Given the description of an element on the screen output the (x, y) to click on. 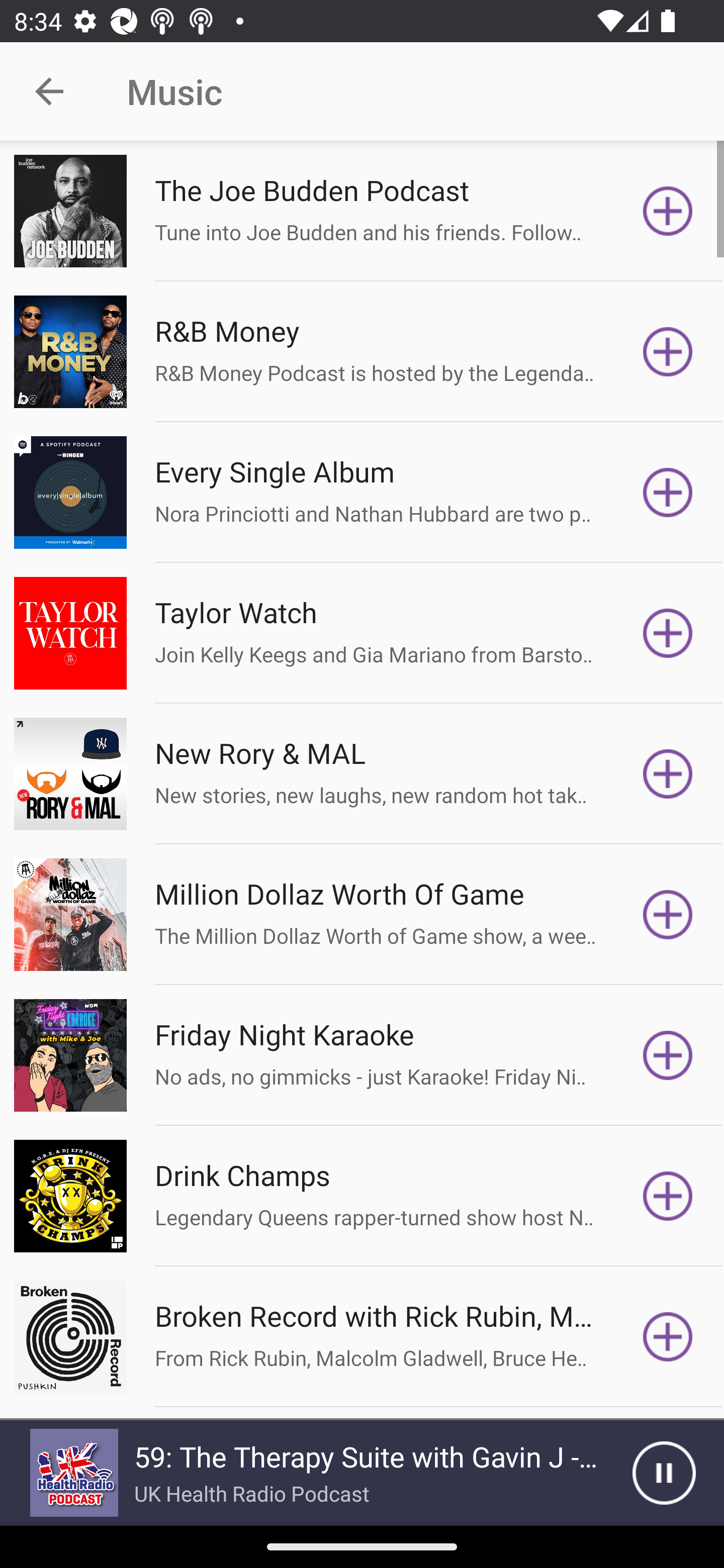
Navigate up (49, 91)
Subscribe (667, 211)
Subscribe (667, 350)
Subscribe (667, 491)
Subscribe (667, 633)
Subscribe (667, 773)
Subscribe (667, 913)
Subscribe (667, 1054)
Subscribe (667, 1195)
Subscribe (667, 1336)
Pause (663, 1472)
